Given the description of an element on the screen output the (x, y) to click on. 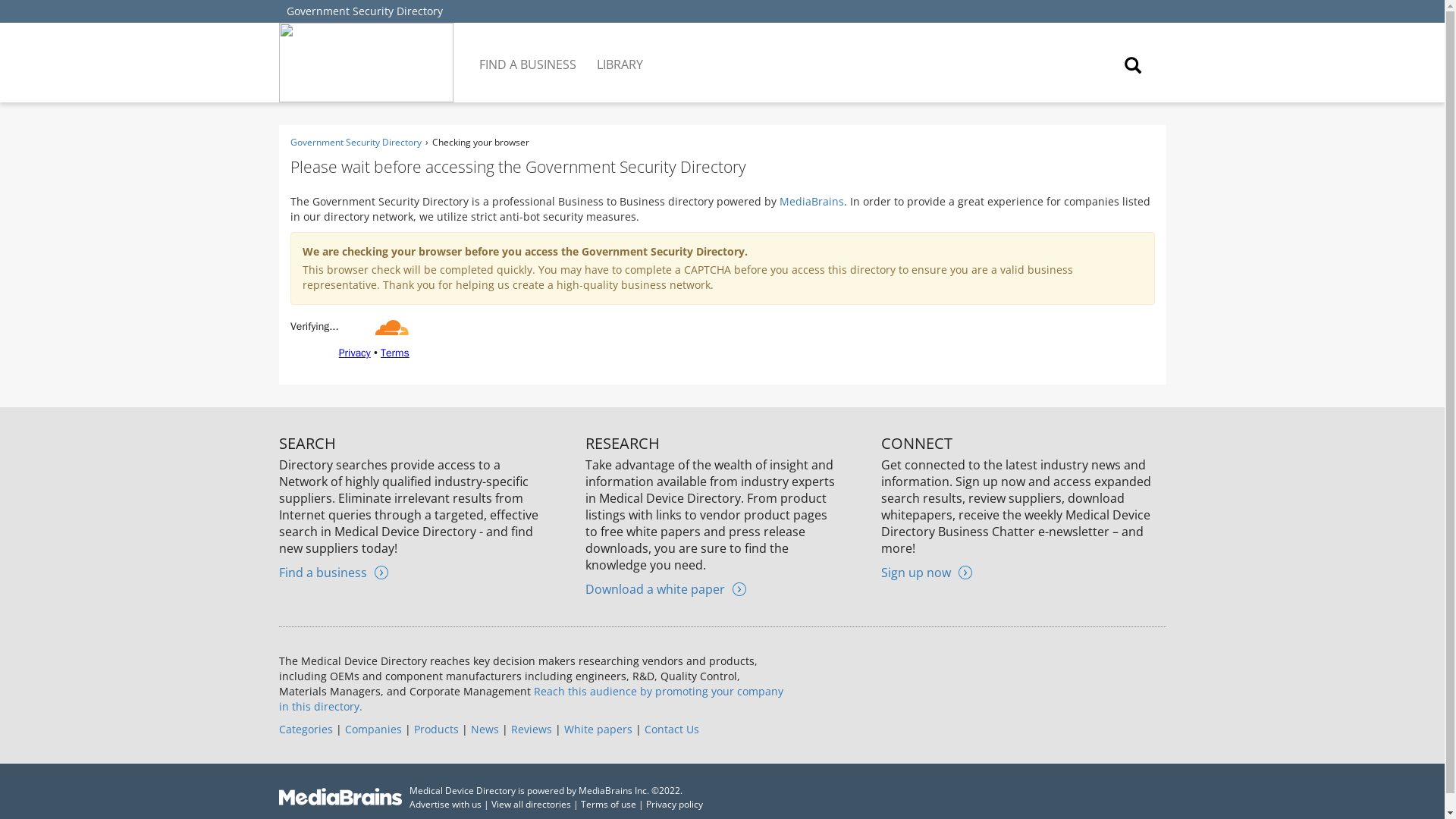
Companies (372, 728)
Privacy policy (674, 803)
White papers (597, 728)
News (483, 728)
Advertise with us (445, 803)
Government Security Directory (354, 141)
Terms of use (608, 803)
Government Security Directory (364, 11)
MediaBrains (811, 201)
Categories (306, 728)
LIBRARY (620, 52)
Sign up now (926, 572)
Download a white paper (665, 588)
Find a business (333, 572)
